Given the description of an element on the screen output the (x, y) to click on. 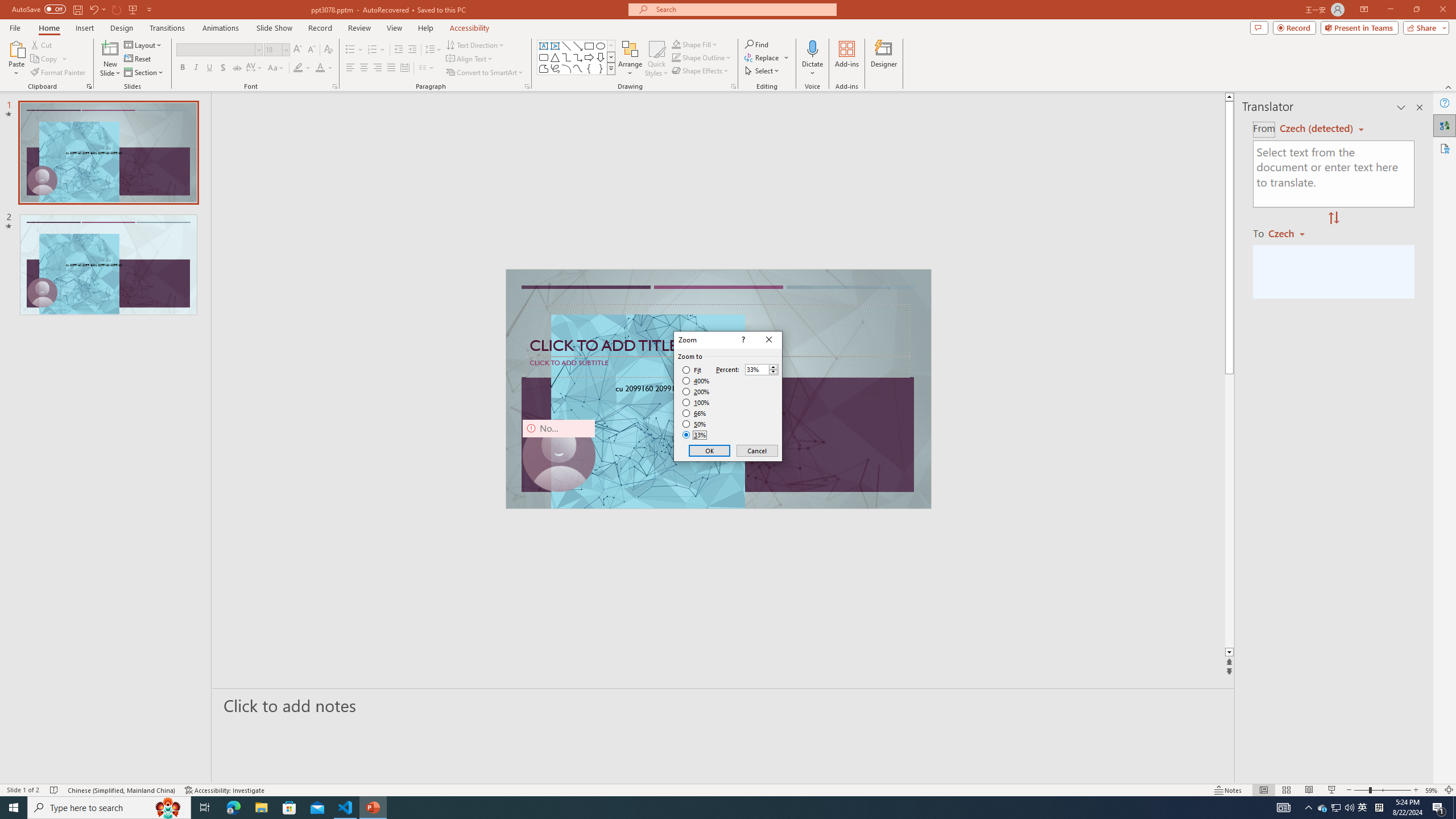
Percent (761, 369)
100% (1322, 807)
